Given the description of an element on the screen output the (x, y) to click on. 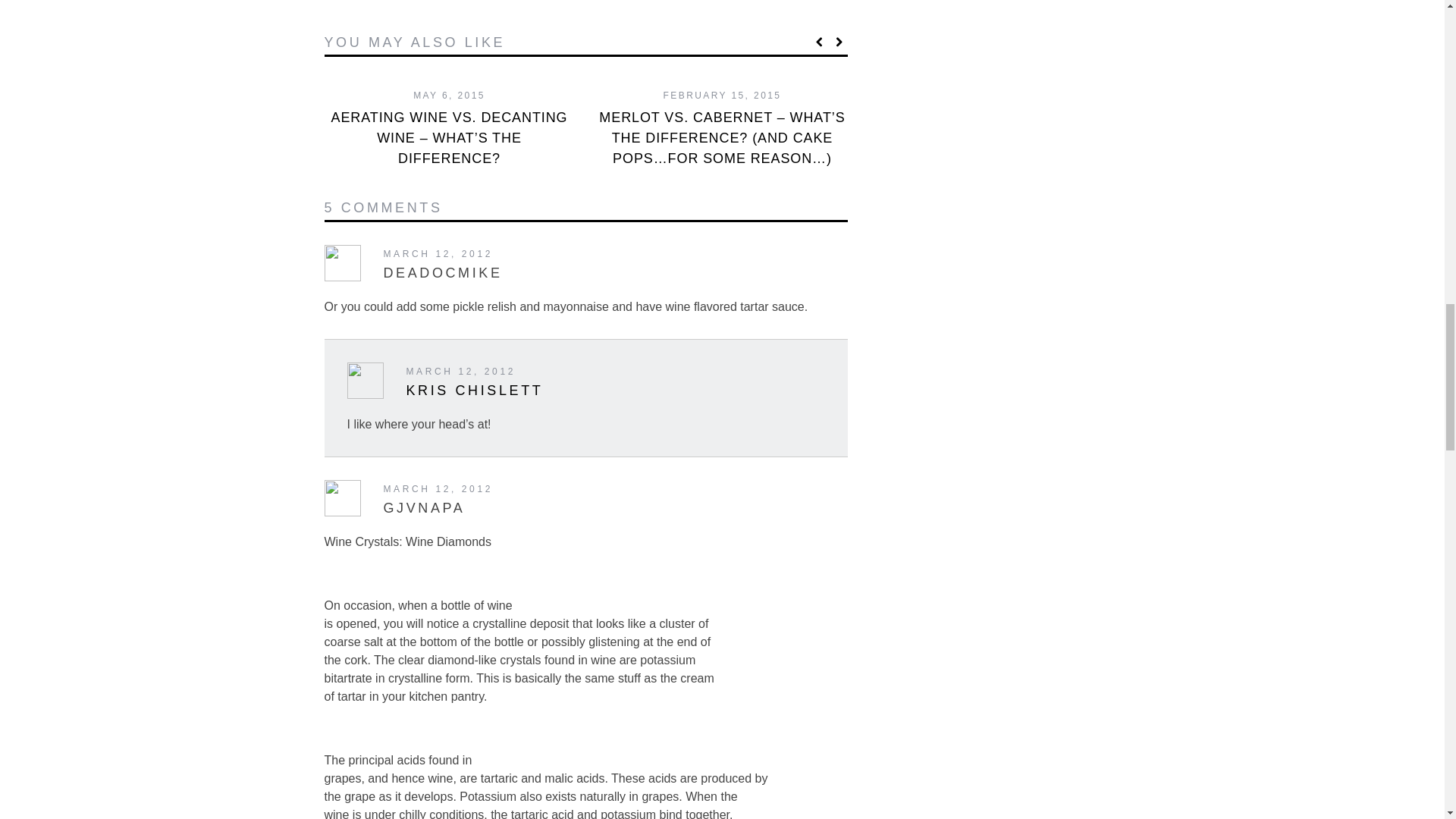
KRIS CHISLETT (474, 390)
